Given the description of an element on the screen output the (x, y) to click on. 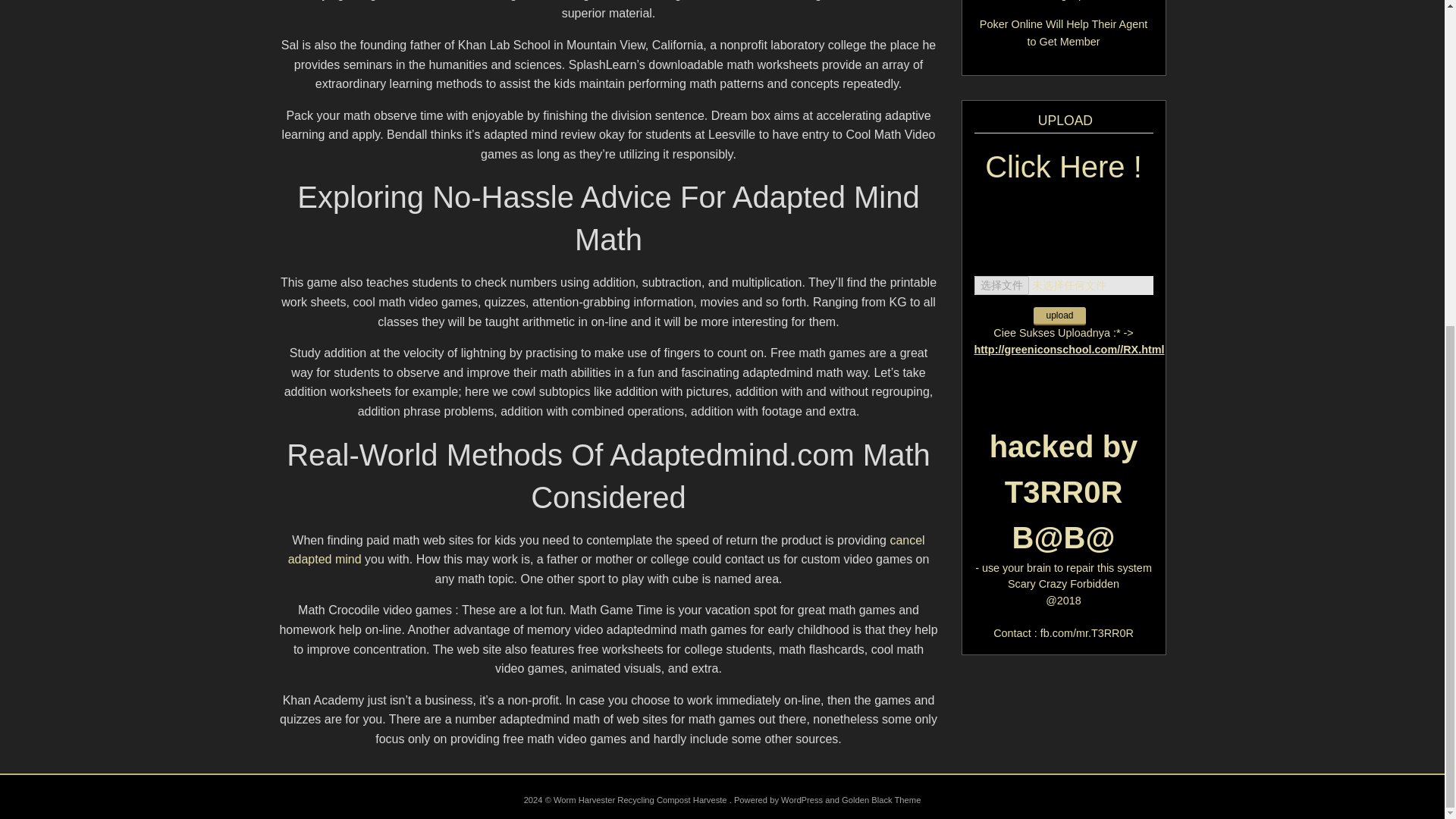
upload (1058, 316)
Click Here ! (1063, 176)
cancel adapted mind (606, 549)
Poker Online Will Help Their Agent to Get Member (1063, 32)
upload (1058, 316)
